Given the description of an element on the screen output the (x, y) to click on. 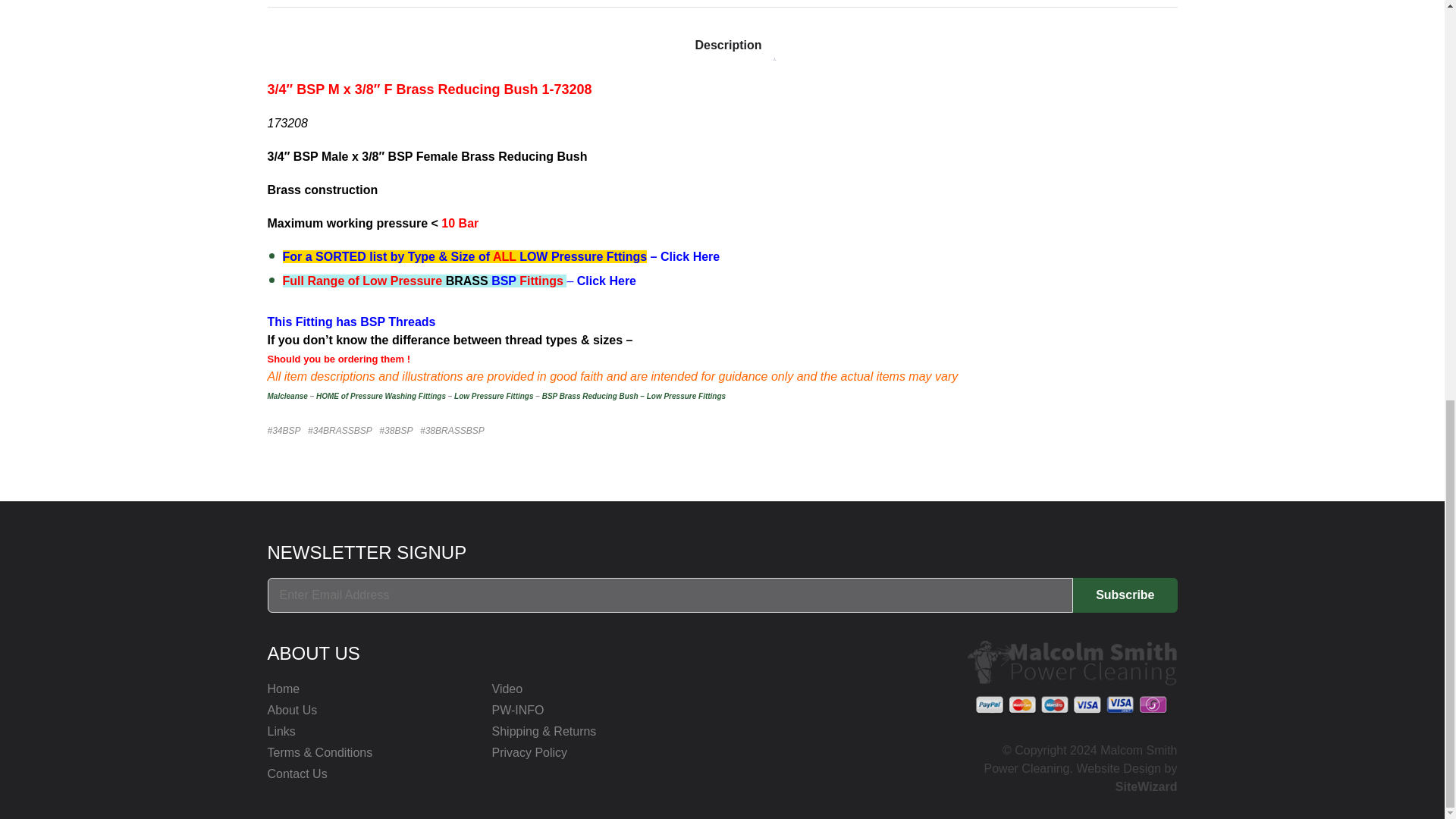
Low Pressure Fittings (493, 396)
BSP Brass Reducing Bush - Low Pressure Fittings (634, 396)
Welcome to Malcolm Smith Power Cleaning (286, 396)
Malcom Smith Power Cleaning (1071, 676)
Subscribe (1124, 595)
Full range of low pressure BRASS fittings (606, 280)
